Given the description of an element on the screen output the (x, y) to click on. 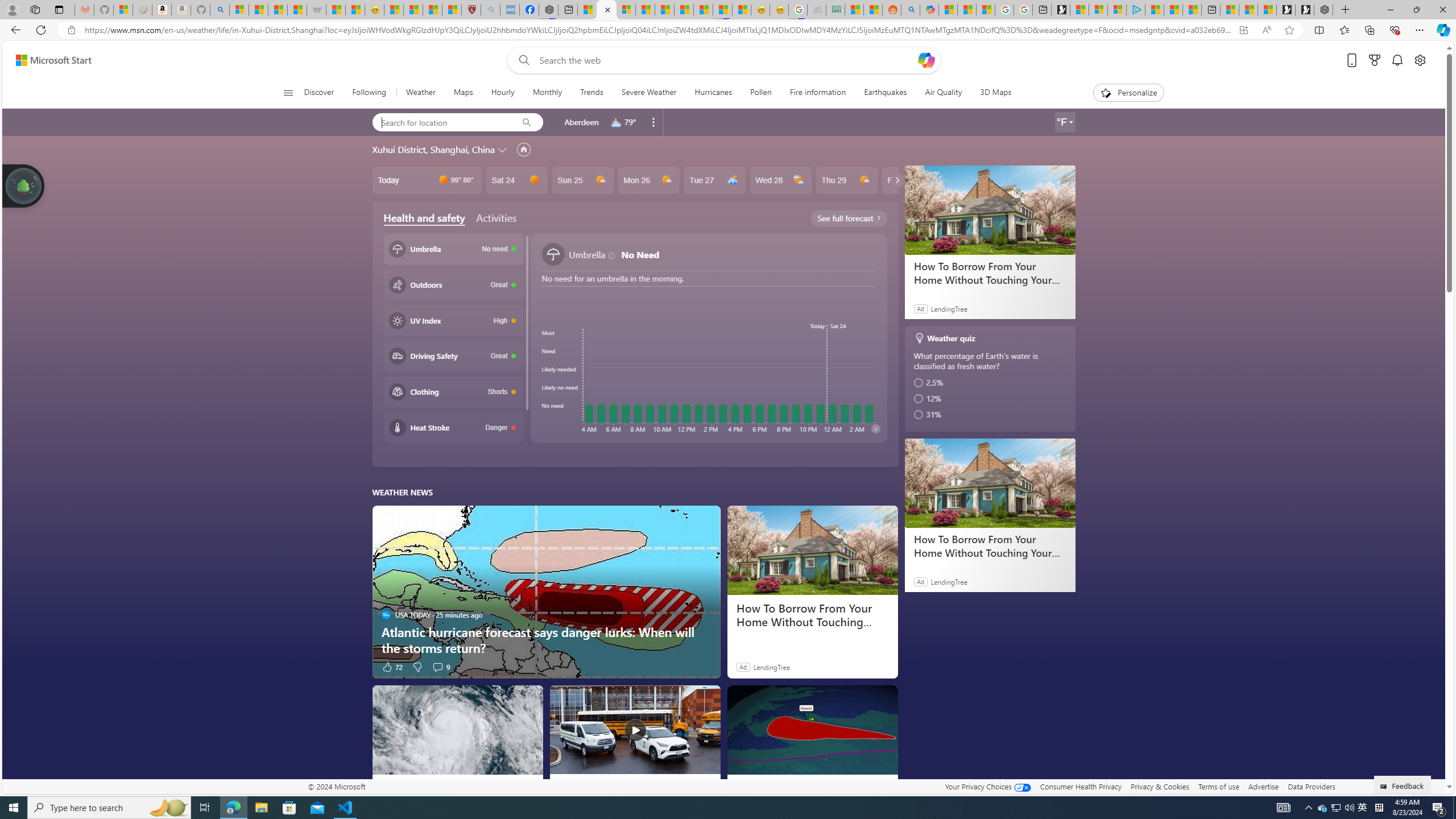
Monthly (547, 92)
Pollen (760, 92)
